Given the description of an element on the screen output the (x, y) to click on. 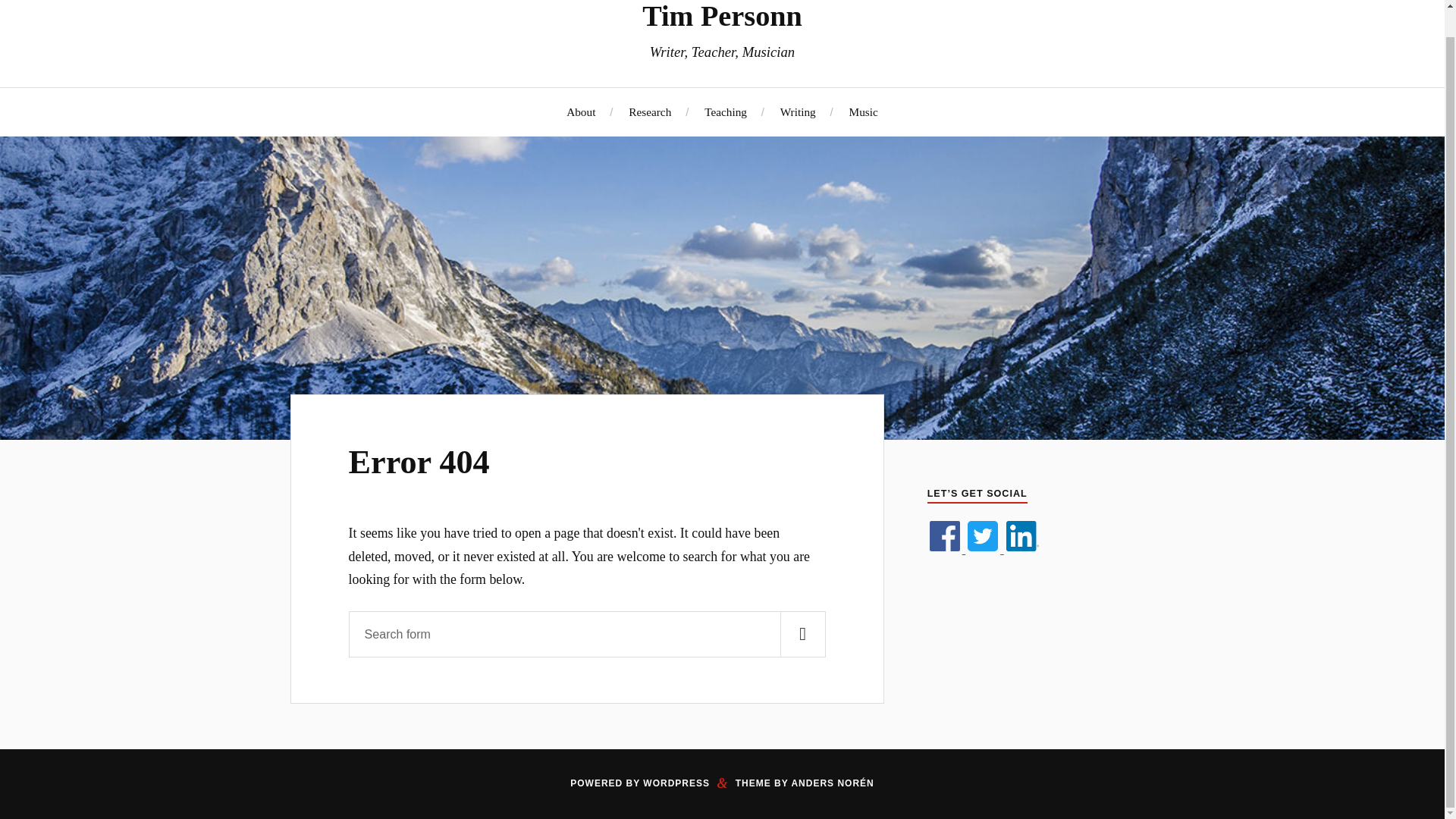
Tim Personn (722, 15)
Research (649, 111)
Teaching (725, 111)
